Given the description of an element on the screen output the (x, y) to click on. 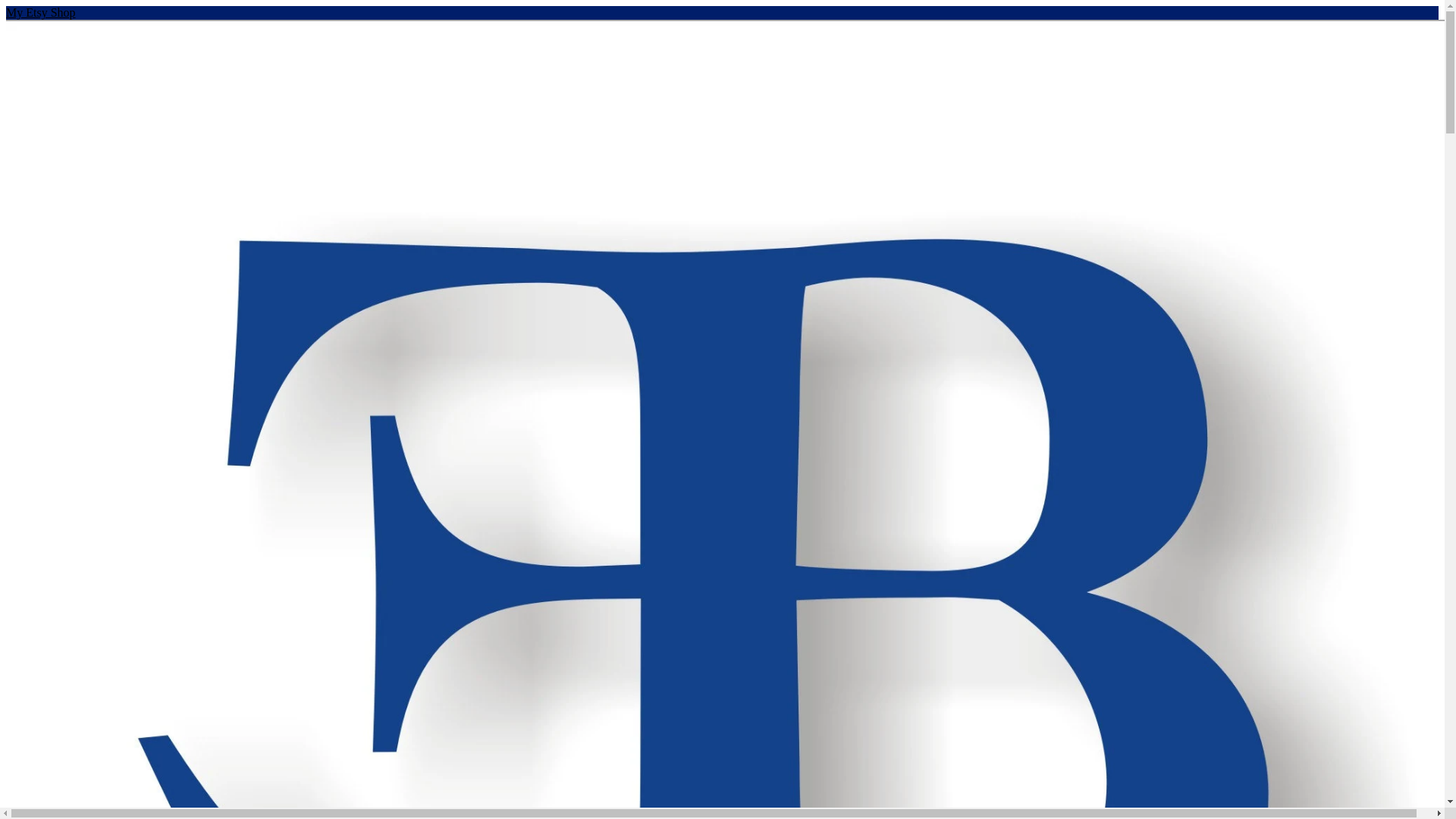
My Etsy Shop (40, 11)
